Given the description of an element on the screen output the (x, y) to click on. 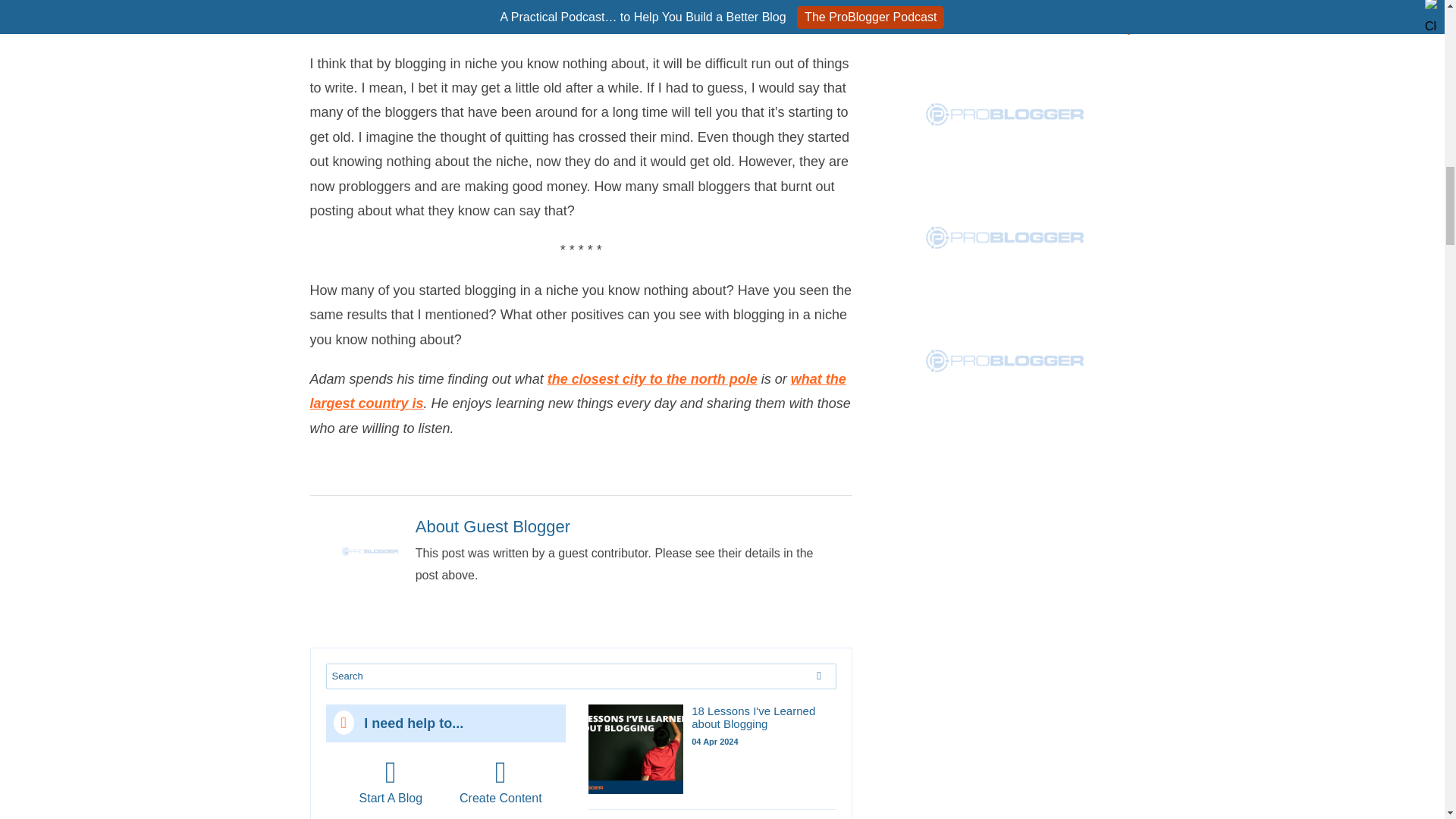
Create Content (500, 781)
the closest city to the north pole (652, 378)
what the largest country is (576, 391)
Start A Blog (390, 781)
